Given the description of an element on the screen output the (x, y) to click on. 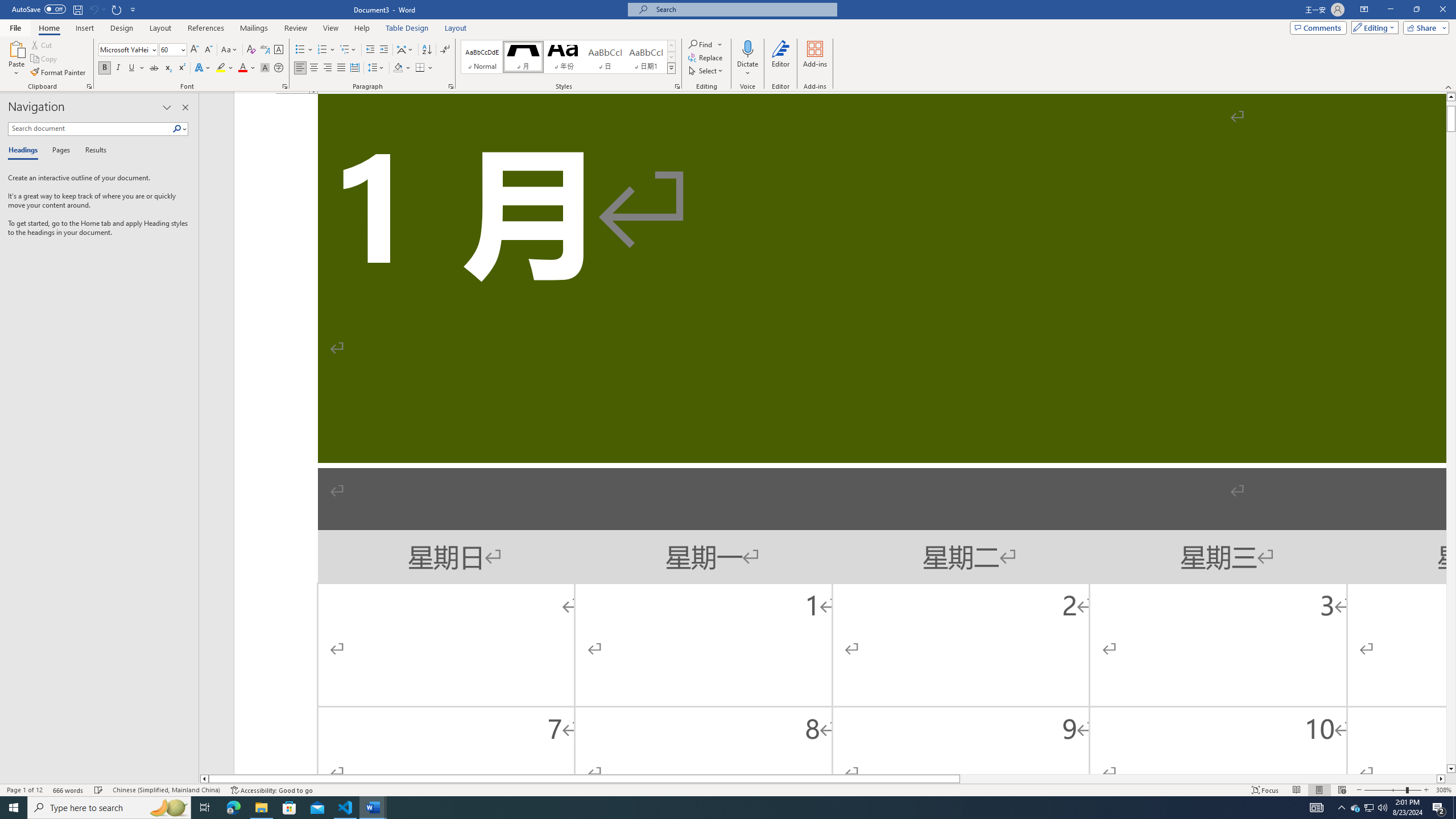
Page right (1198, 778)
Page down (1450, 447)
Accessibility Checker Accessibility: Good to go (271, 790)
Line down (1450, 768)
